Given the description of an element on the screen output the (x, y) to click on. 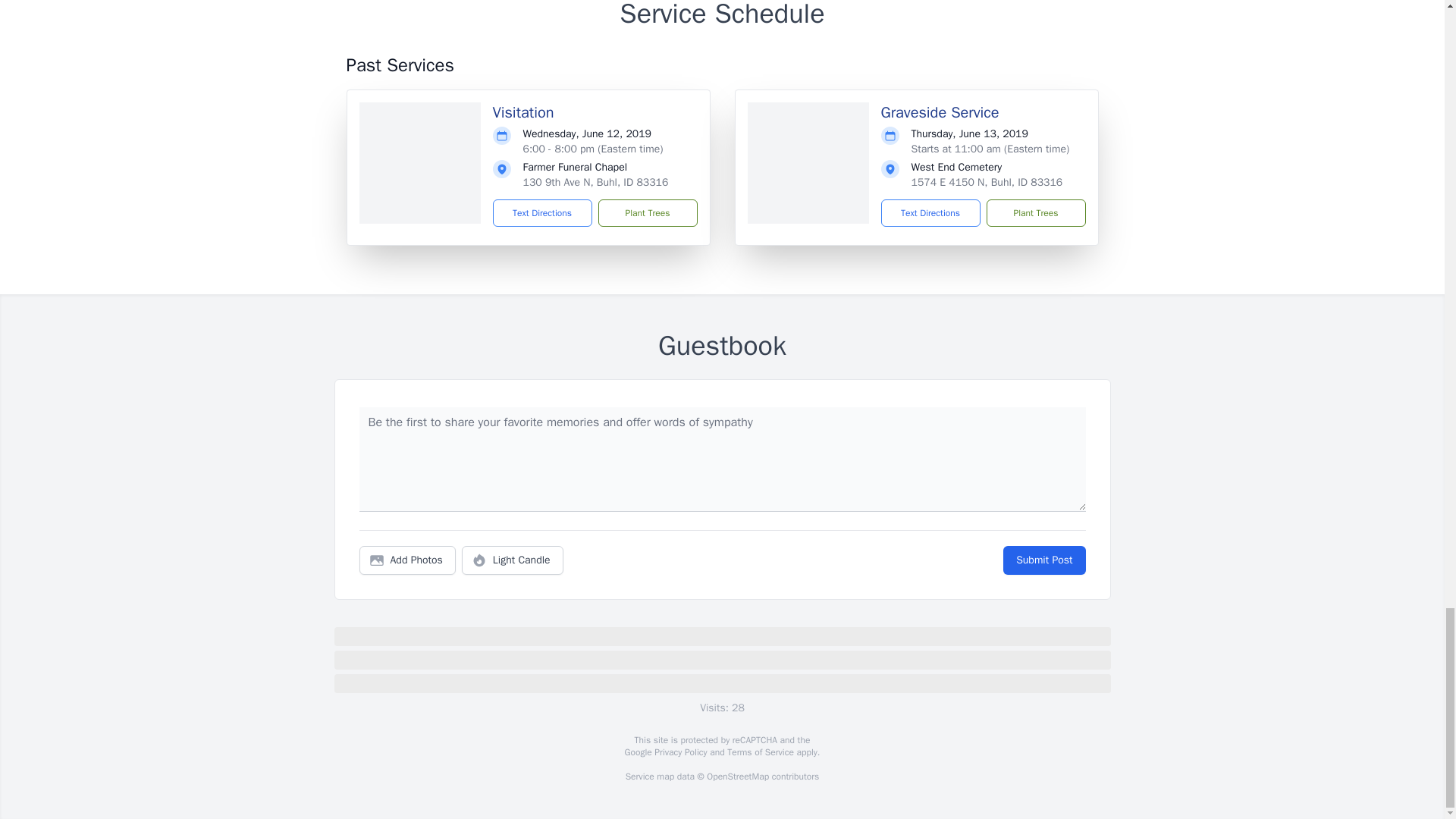
130 9th Ave N, Buhl, ID 83316 (595, 182)
Terms of Service (759, 752)
Submit Post (1043, 560)
Light Candle (512, 560)
OpenStreetMap (737, 776)
Plant Trees (1034, 212)
Privacy Policy (679, 752)
Add Photos (407, 560)
Plant Trees (646, 212)
Text Directions (542, 212)
Text Directions (929, 212)
1574 E 4150 N, Buhl, ID 83316 (986, 182)
